Given the description of an element on the screen output the (x, y) to click on. 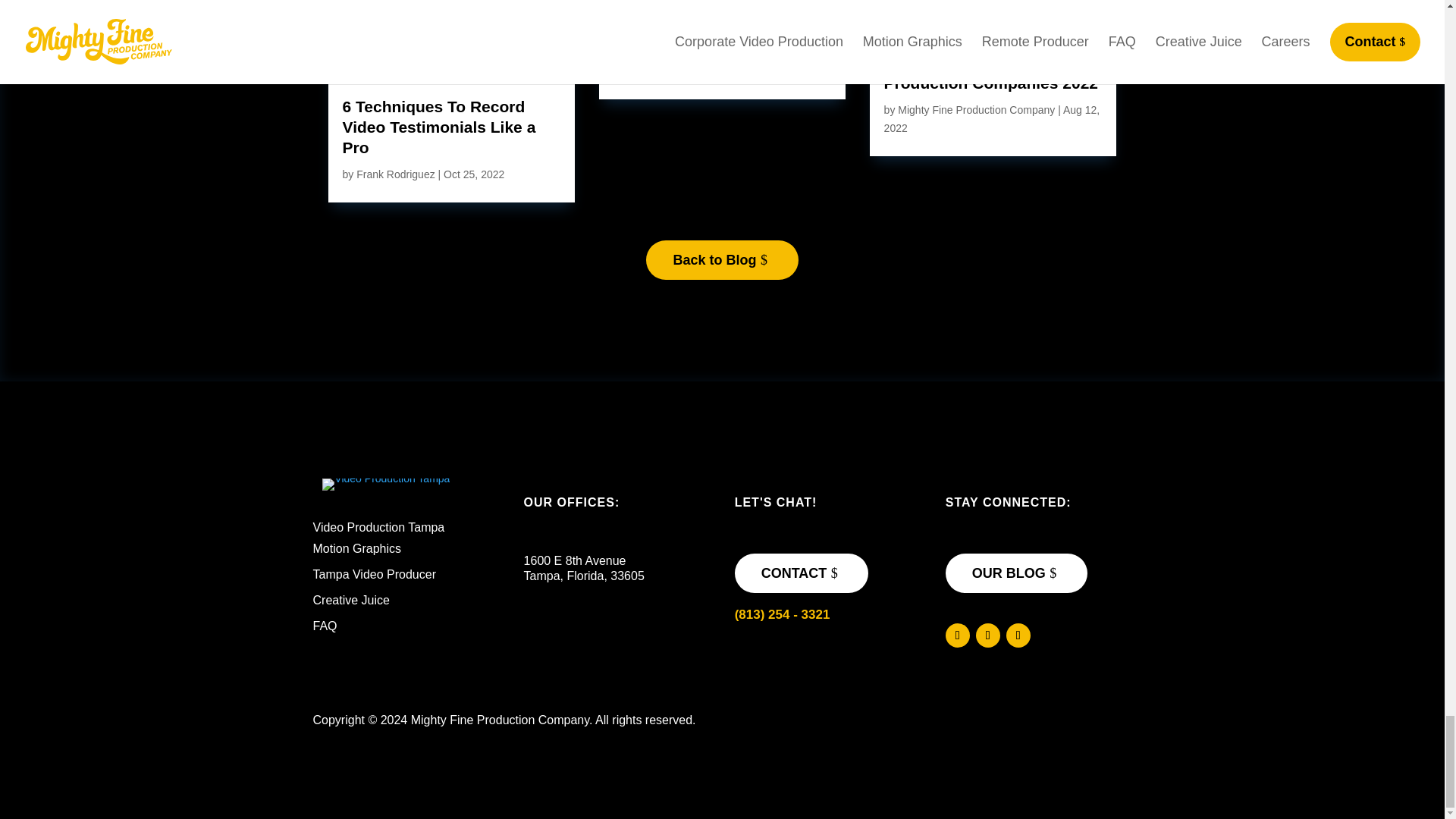
Follow on Vimeo (987, 635)
6 Techniques To Record Video Testimonials Like a Pro  (438, 127)
Follow on Facebook (956, 635)
Follow on LinkedIn (1018, 635)
Posts by Frank Rodriguez (395, 174)
Frank Rodriguez (395, 174)
Mighty Fine Production Company (385, 484)
Frank Rodriguez (666, 70)
Posts by Frank Rodriguez (666, 70)
Posts by Mighty Fine Production Company (976, 110)
